Given the description of an element on the screen output the (x, y) to click on. 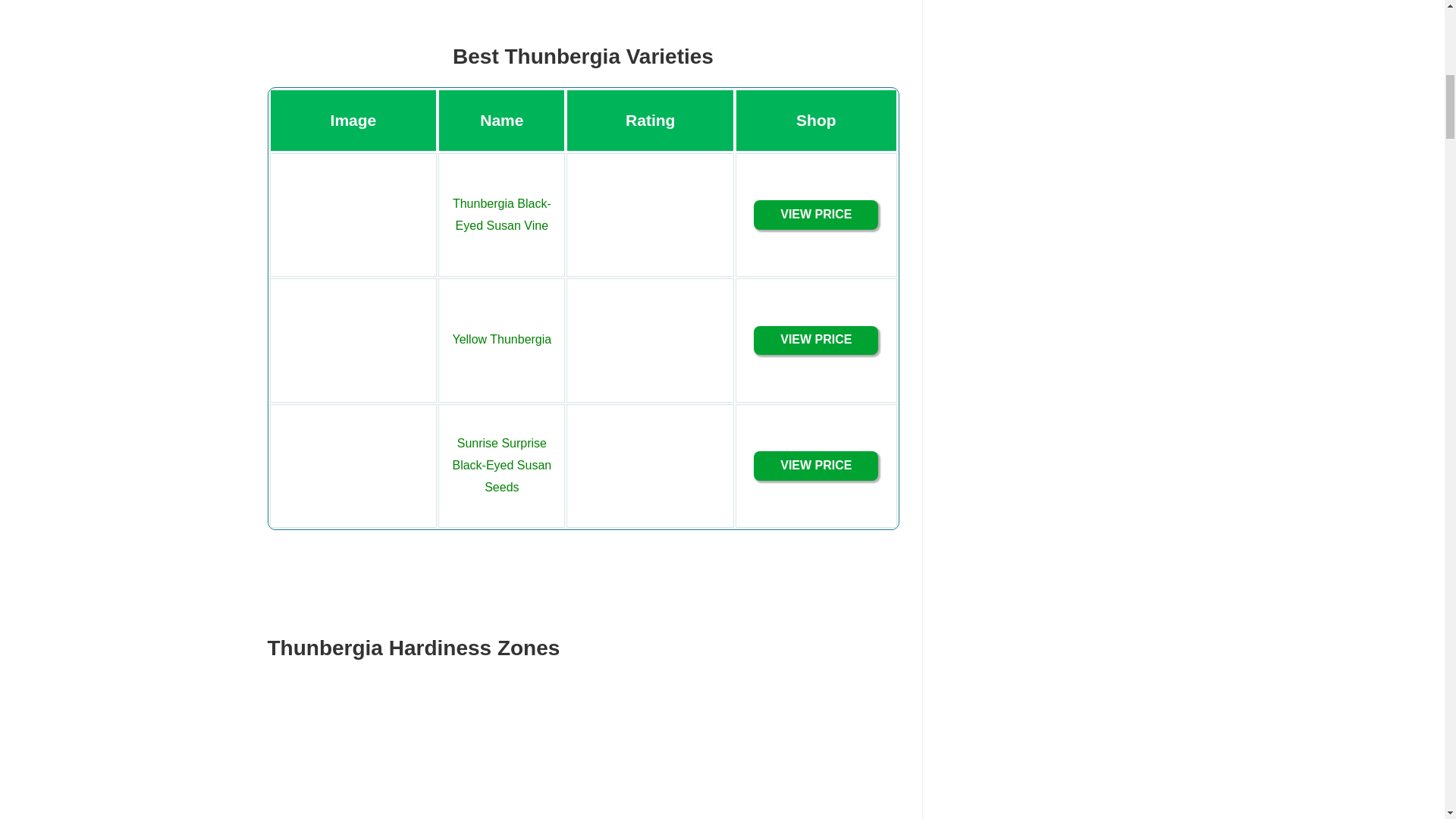
VIEW PRICE (816, 340)
Thunbergia Black-Eyed Susan Vine (501, 214)
Sunrise Surprise Black-Eyed Susan Seeds (501, 464)
VIEW PRICE (816, 465)
Yellow Thunbergia (501, 338)
VIEW PRICE (816, 214)
